Given the description of an element on the screen output the (x, y) to click on. 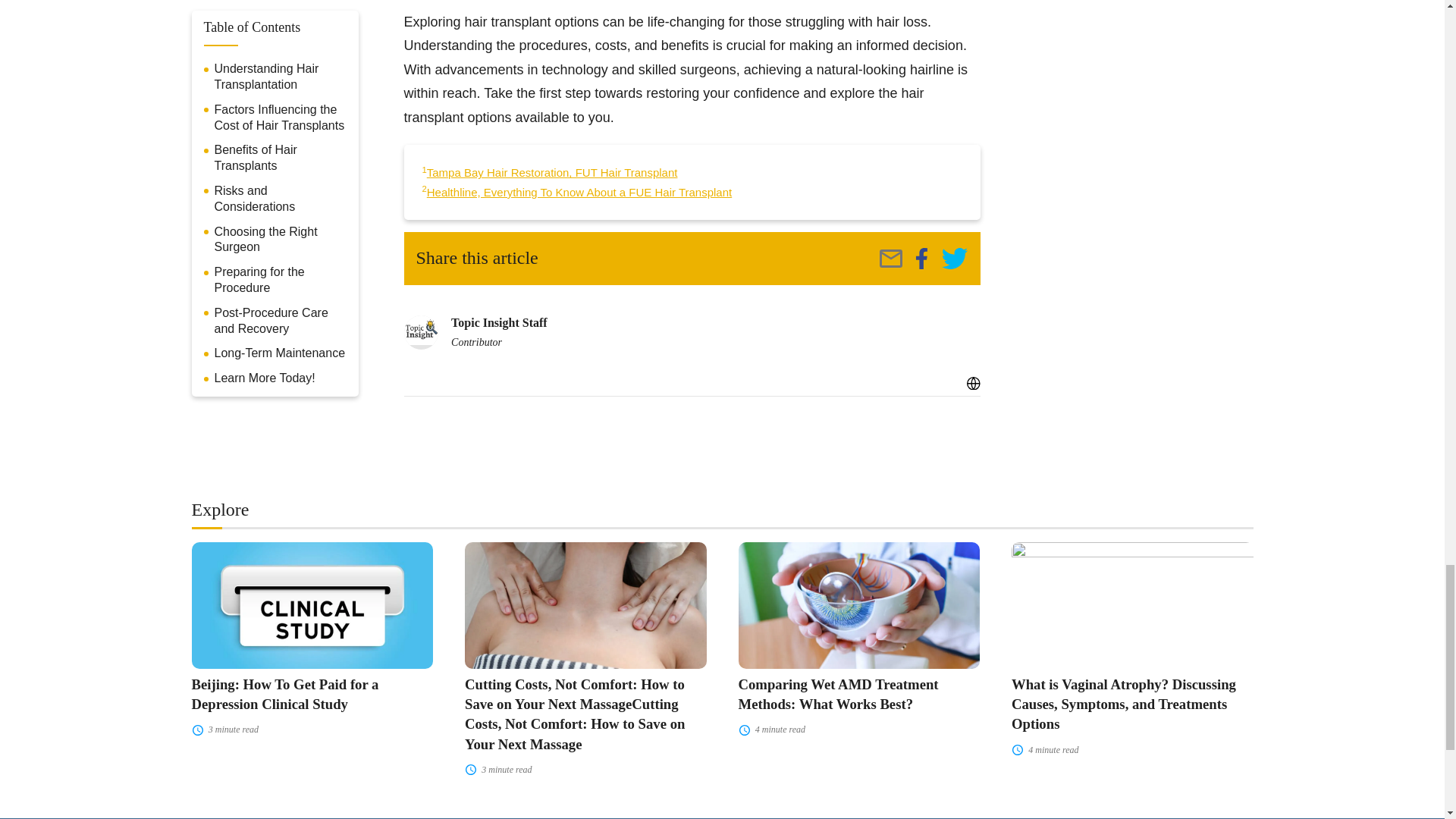
Healthline, Everything To Know About a FUE Hair Transplant (579, 192)
Exploring Hair Transplant Options: What Are the Costs? (954, 258)
Tampa Bay Hair Restoration, FUT Hair Transplant (552, 172)
Share by Email (890, 258)
